Given the description of an element on the screen output the (x, y) to click on. 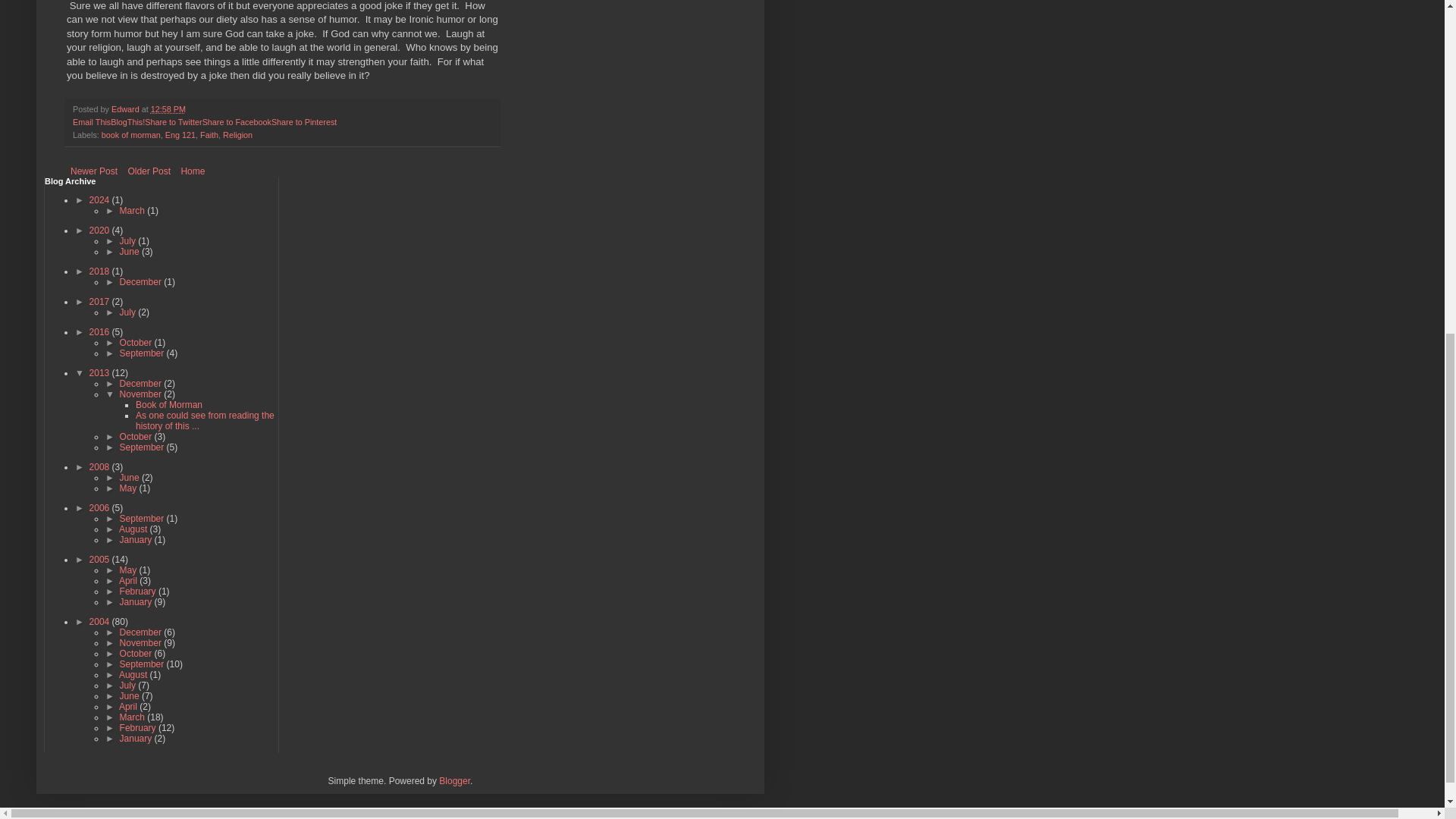
Home (192, 171)
2016 (100, 331)
BlogThis! (127, 121)
2020 (100, 230)
Email This (91, 121)
Edward (126, 108)
July (128, 312)
October (136, 342)
Faith (209, 134)
Eng 121 (180, 134)
June (130, 251)
Share to Facebook (236, 121)
December (141, 281)
2018 (100, 271)
Share to Facebook (236, 121)
